Given the description of an element on the screen output the (x, y) to click on. 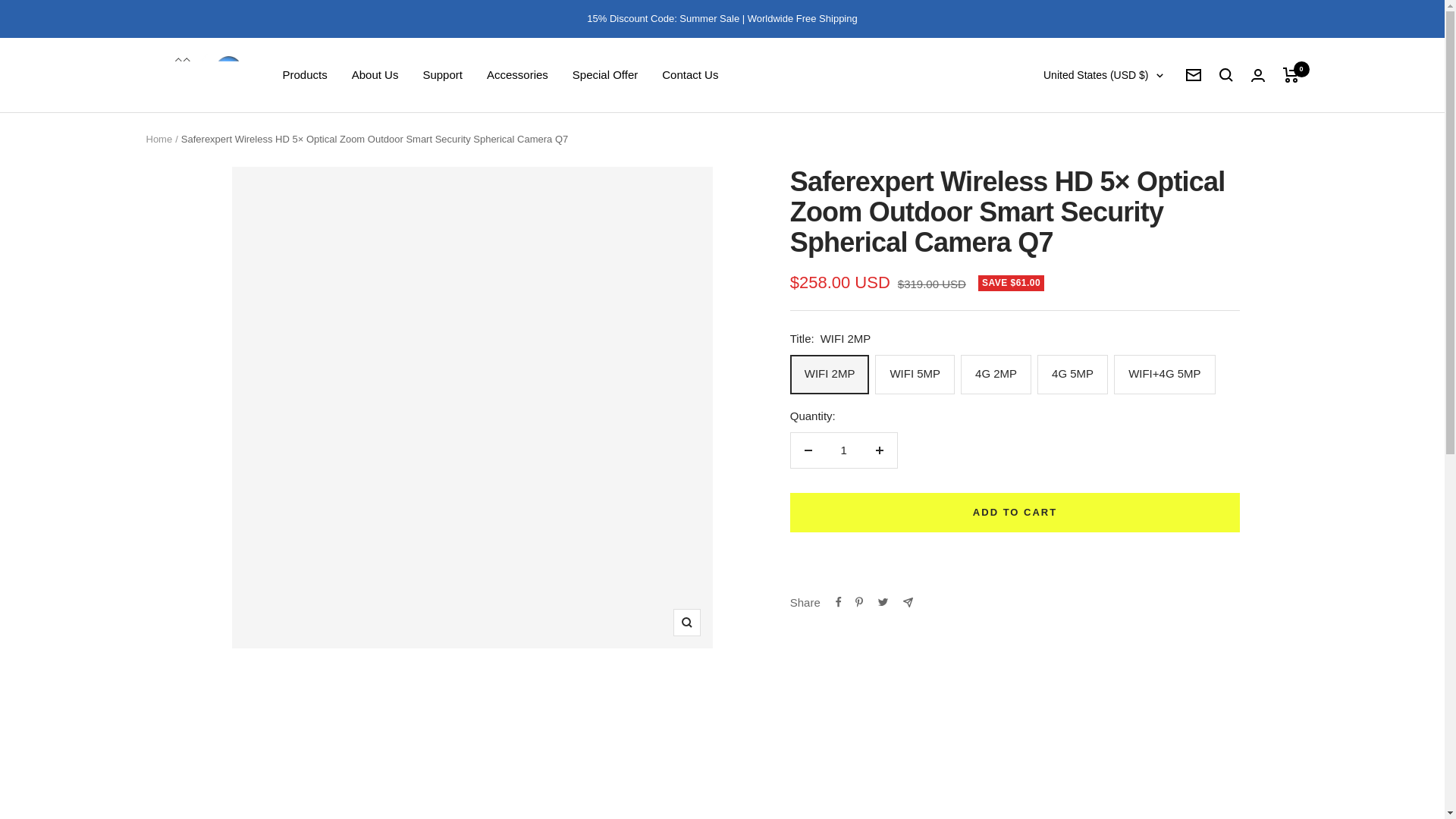
Special Offer (604, 75)
BH (1043, 527)
BW (1043, 803)
BM (1043, 702)
Support (442, 75)
About Us (375, 75)
Products (304, 75)
AU (1043, 427)
BB (1043, 578)
AC (1043, 402)
BA (1043, 777)
BJ (1043, 677)
AI (1043, 277)
